Given the description of an element on the screen output the (x, y) to click on. 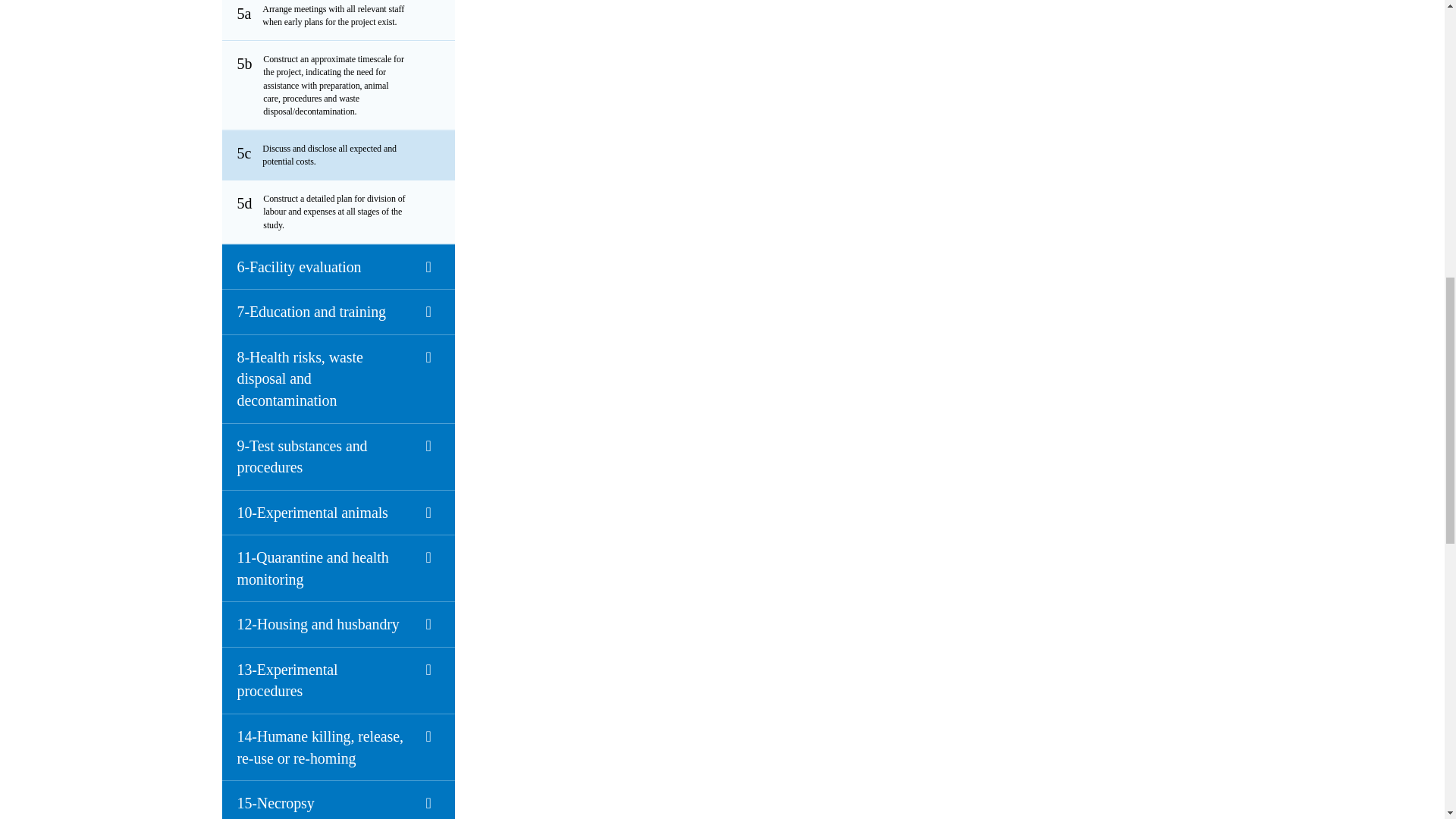
6-Facility evaluation (337, 266)
8-Health risks, waste disposal and decontamination (337, 378)
11-Quarantine and health monitoring (337, 567)
10-Experimental animals (337, 512)
7-Education and training (337, 311)
9-Test substances and procedures (337, 456)
